Given the description of an element on the screen output the (x, y) to click on. 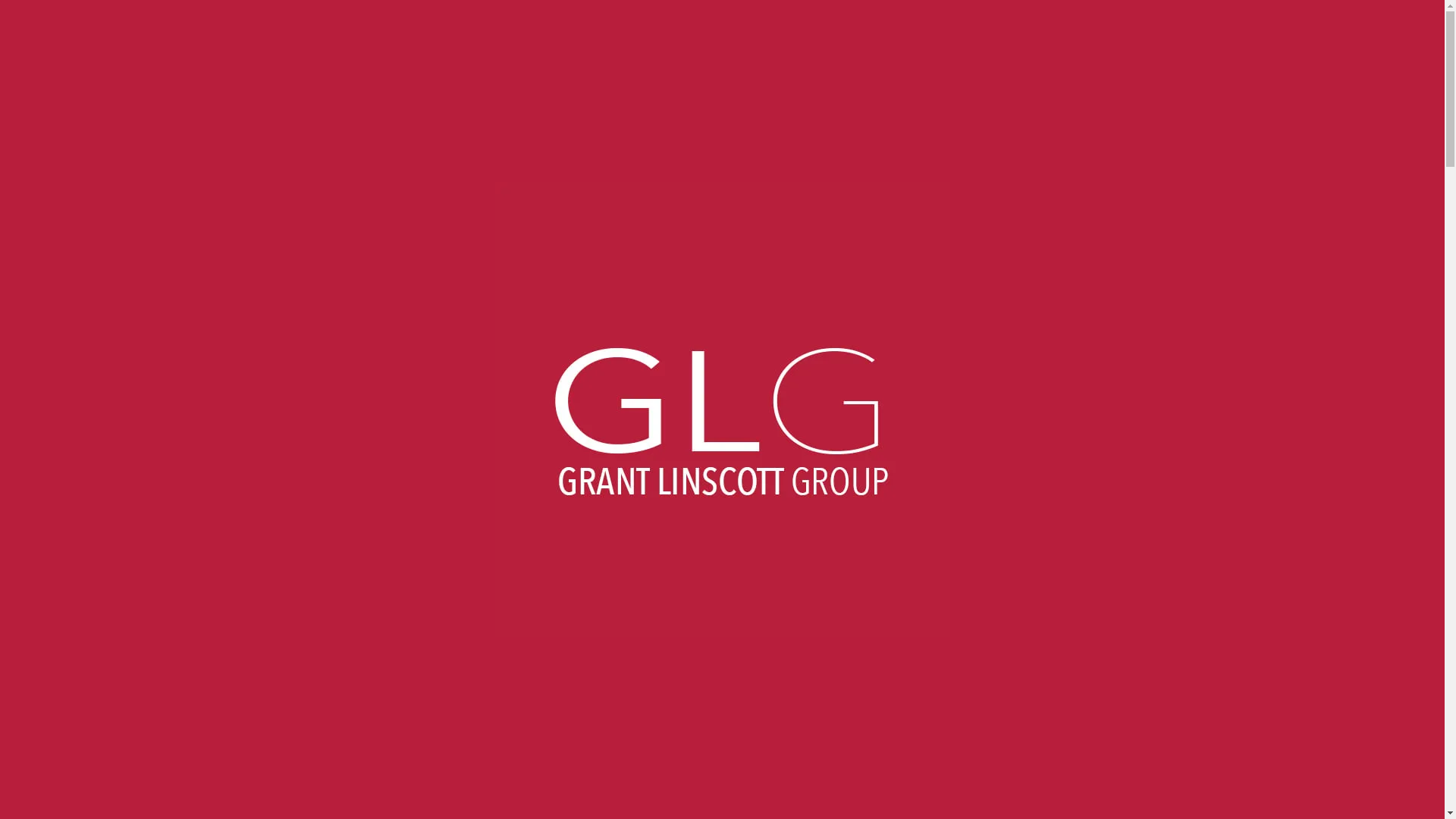
SELLERS (524, 36)
ABOUT (181, 36)
FOR SALE (253, 36)
DEVELOPMENTS (355, 36)
BUYERS (452, 36)
CONTACT US (612, 36)
